Given the description of an element on the screen output the (x, y) to click on. 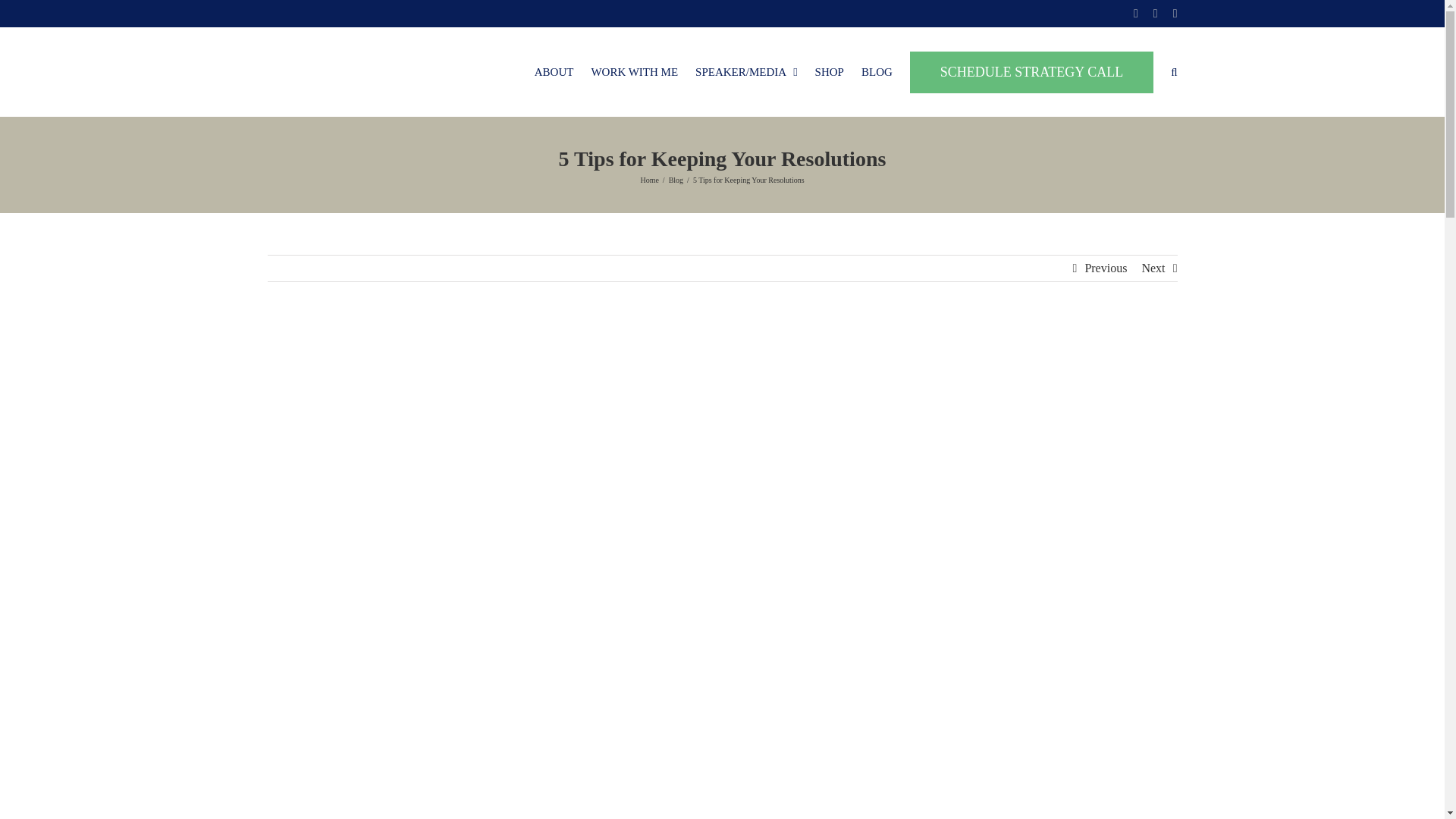
Next (1152, 268)
Home (649, 180)
Blog (675, 180)
SCHEDULE STRATEGY CALL (1031, 71)
Previous (1105, 268)
WORK WITH ME (634, 71)
